Given the description of an element on the screen output the (x, y) to click on. 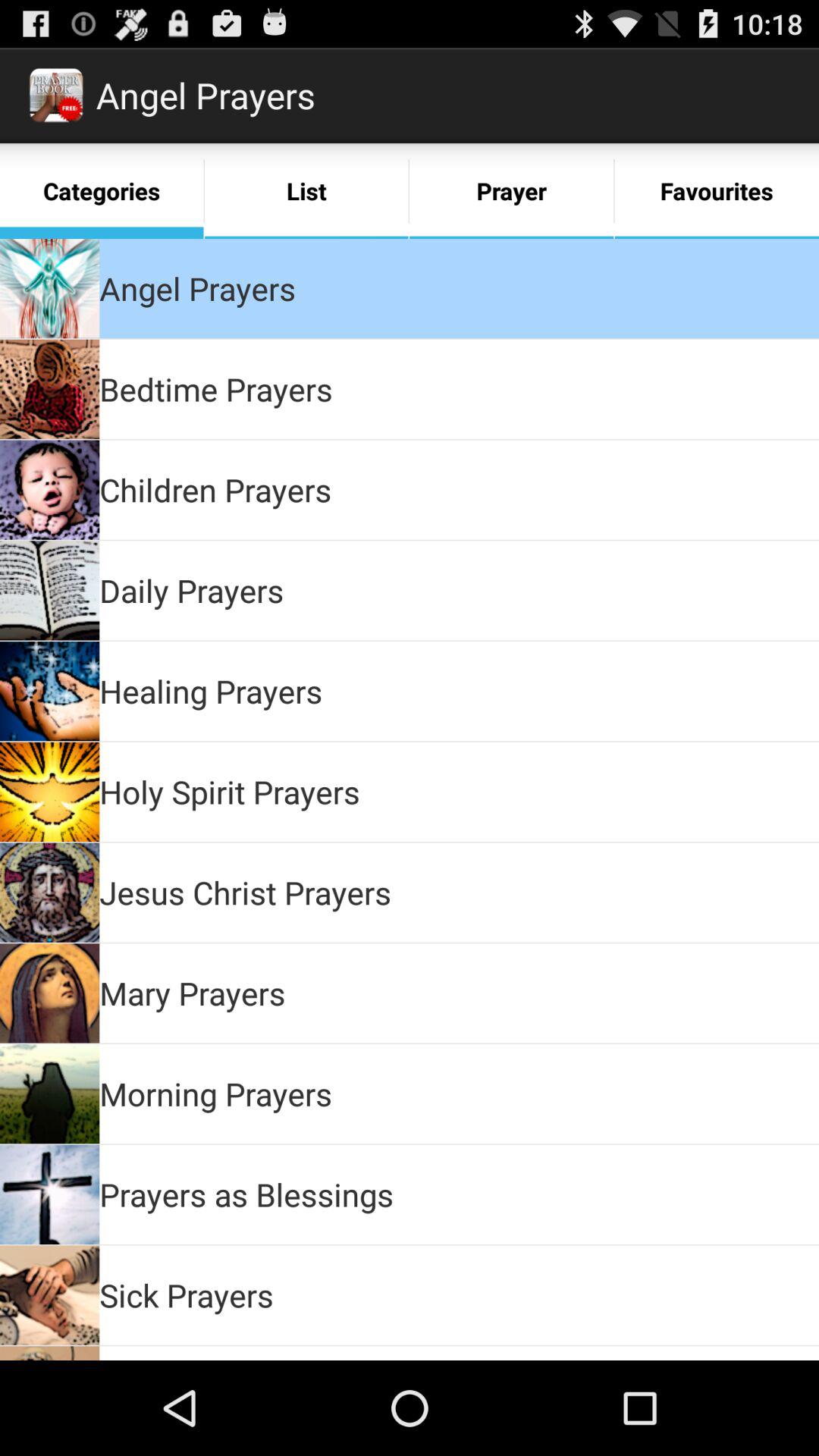
click mary prayers item (192, 992)
